Given the description of an element on the screen output the (x, y) to click on. 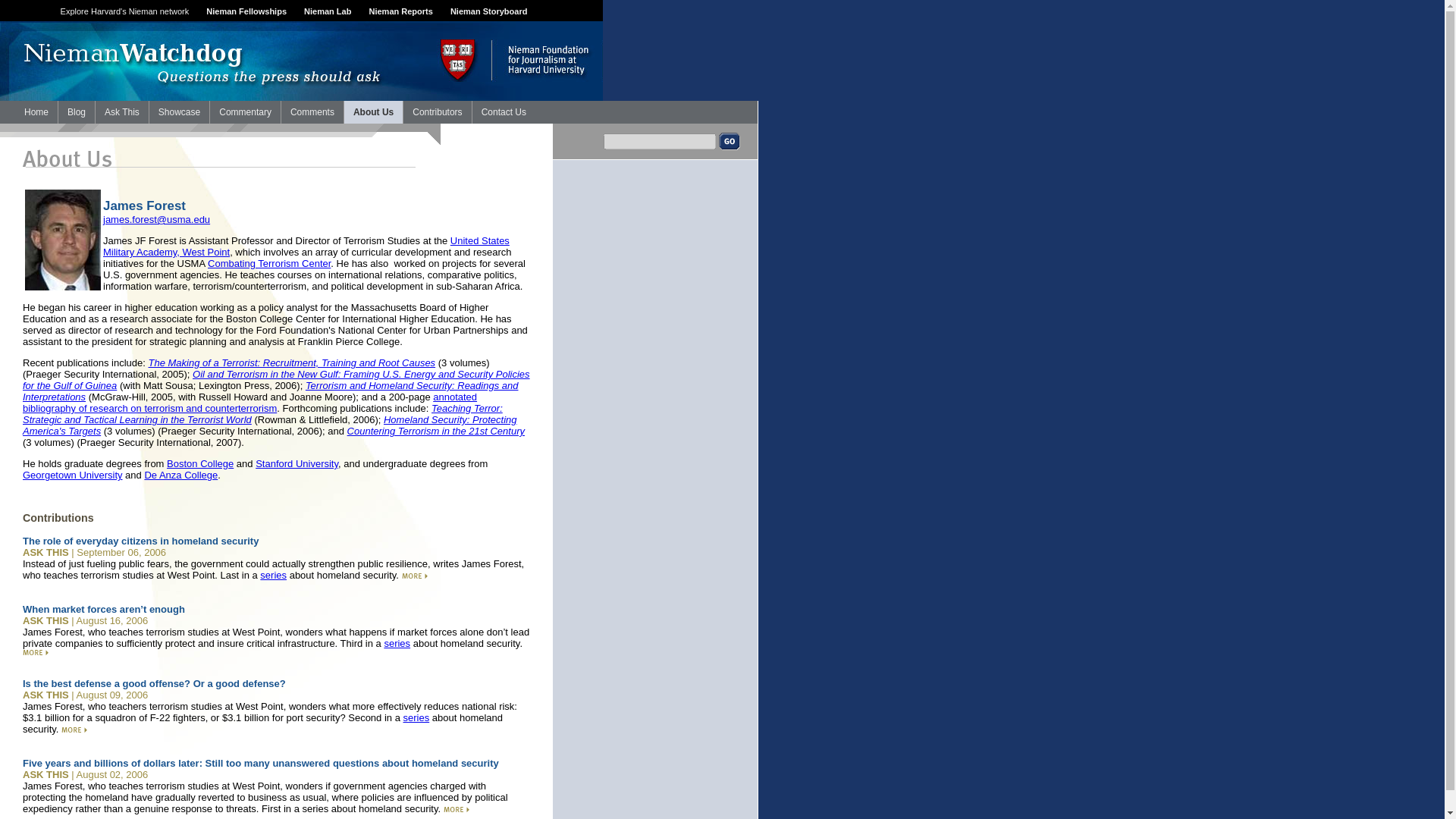
Stanford University (296, 463)
The role of everyday citizens in homeland security (141, 541)
Showcase (179, 112)
Contact Us (503, 112)
Commentary (245, 112)
Explore Harvard's Nieman network (125, 10)
Is the best defense a good offense? Or a good defense? (154, 683)
series (397, 643)
